Given the description of an element on the screen output the (x, y) to click on. 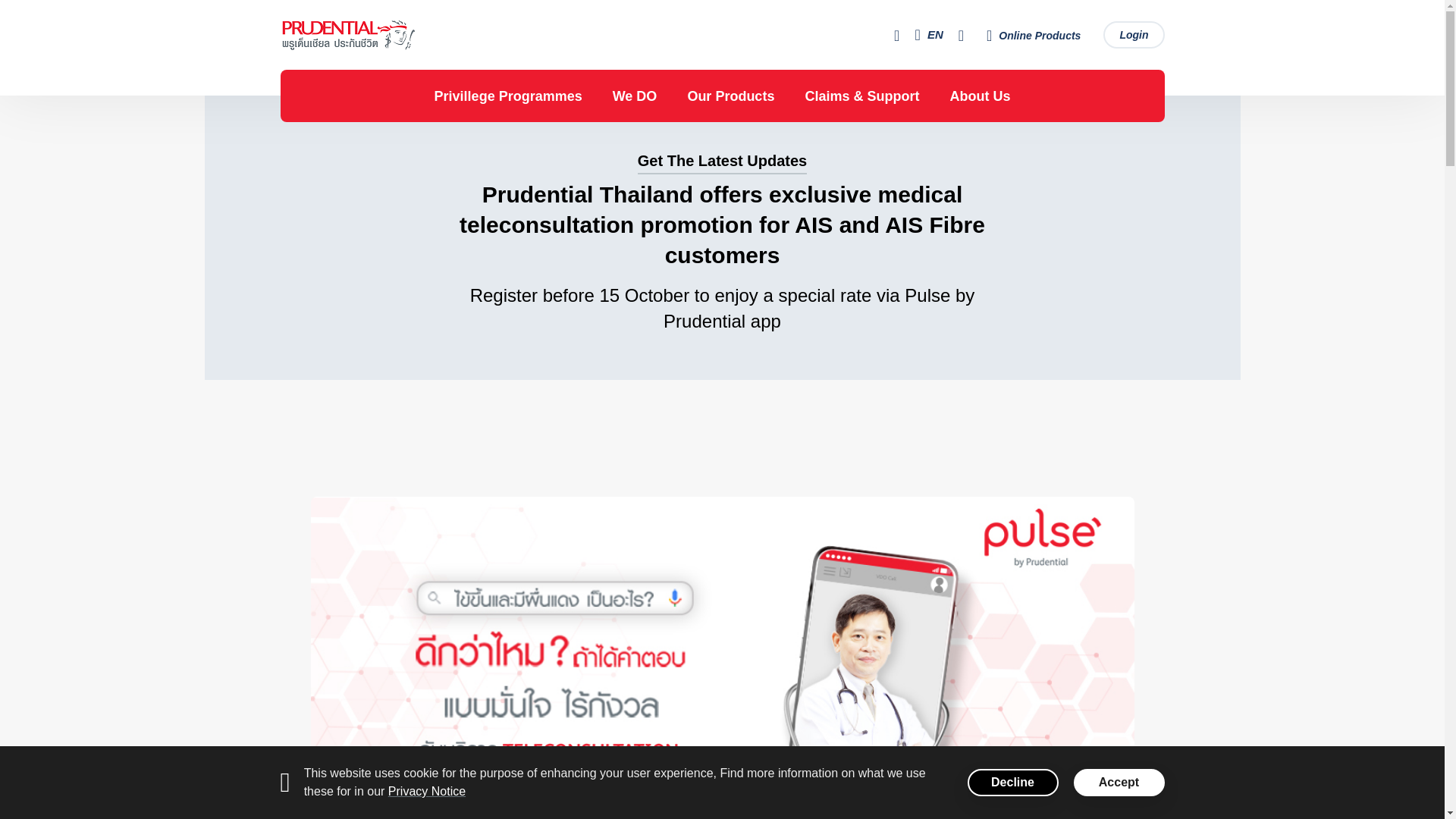
We DO (635, 95)
Login (1133, 34)
Login (1133, 34)
Logo (394, 34)
We DO (635, 95)
Privillege Programmes (507, 95)
About Us (979, 95)
Privillege Programmes (507, 95)
Online Products (1033, 34)
Our Products (730, 95)
